Given the description of an element on the screen output the (x, y) to click on. 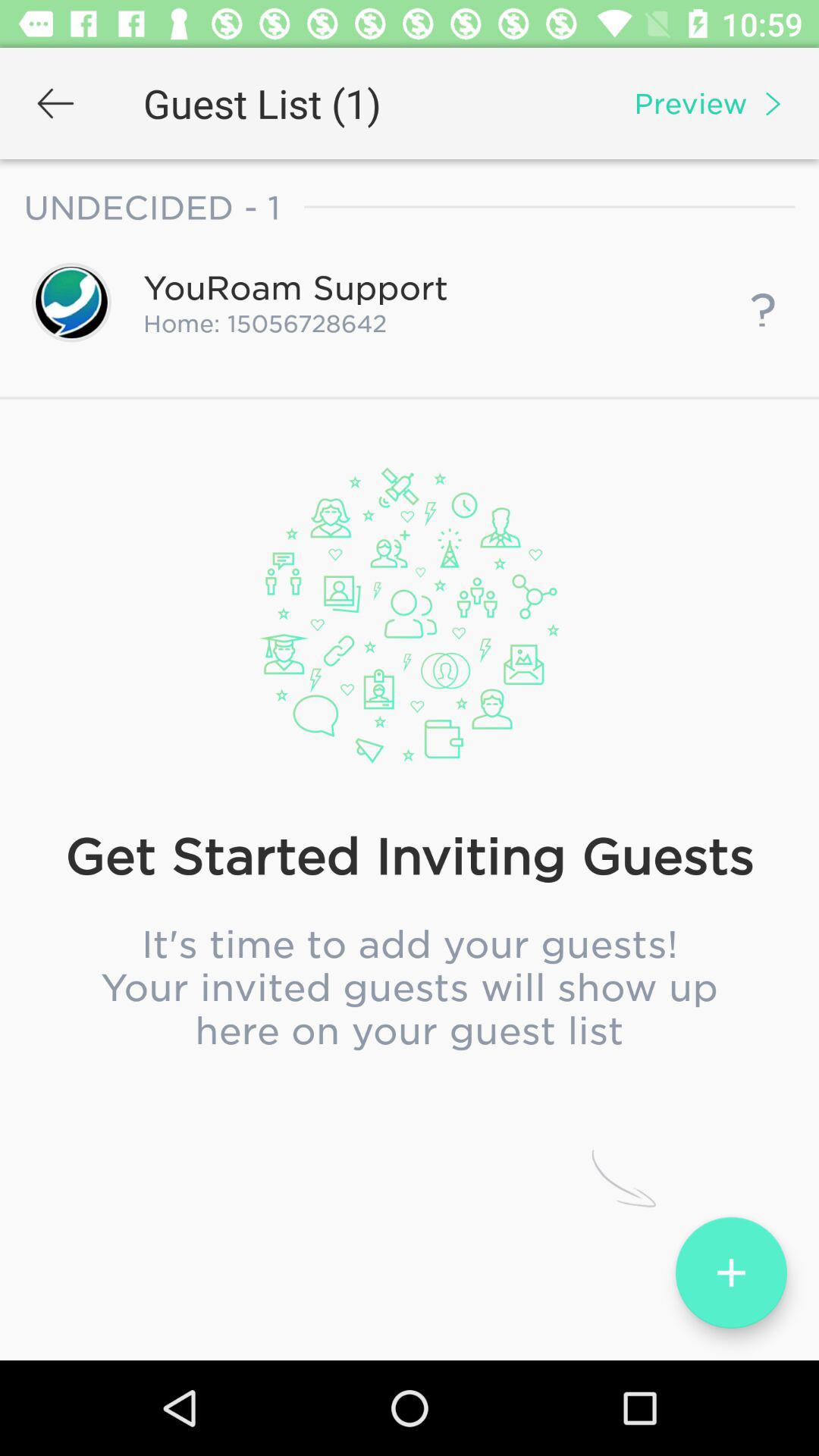
turn on the item above optional end date icon (409, 630)
